Given the description of an element on the screen output the (x, y) to click on. 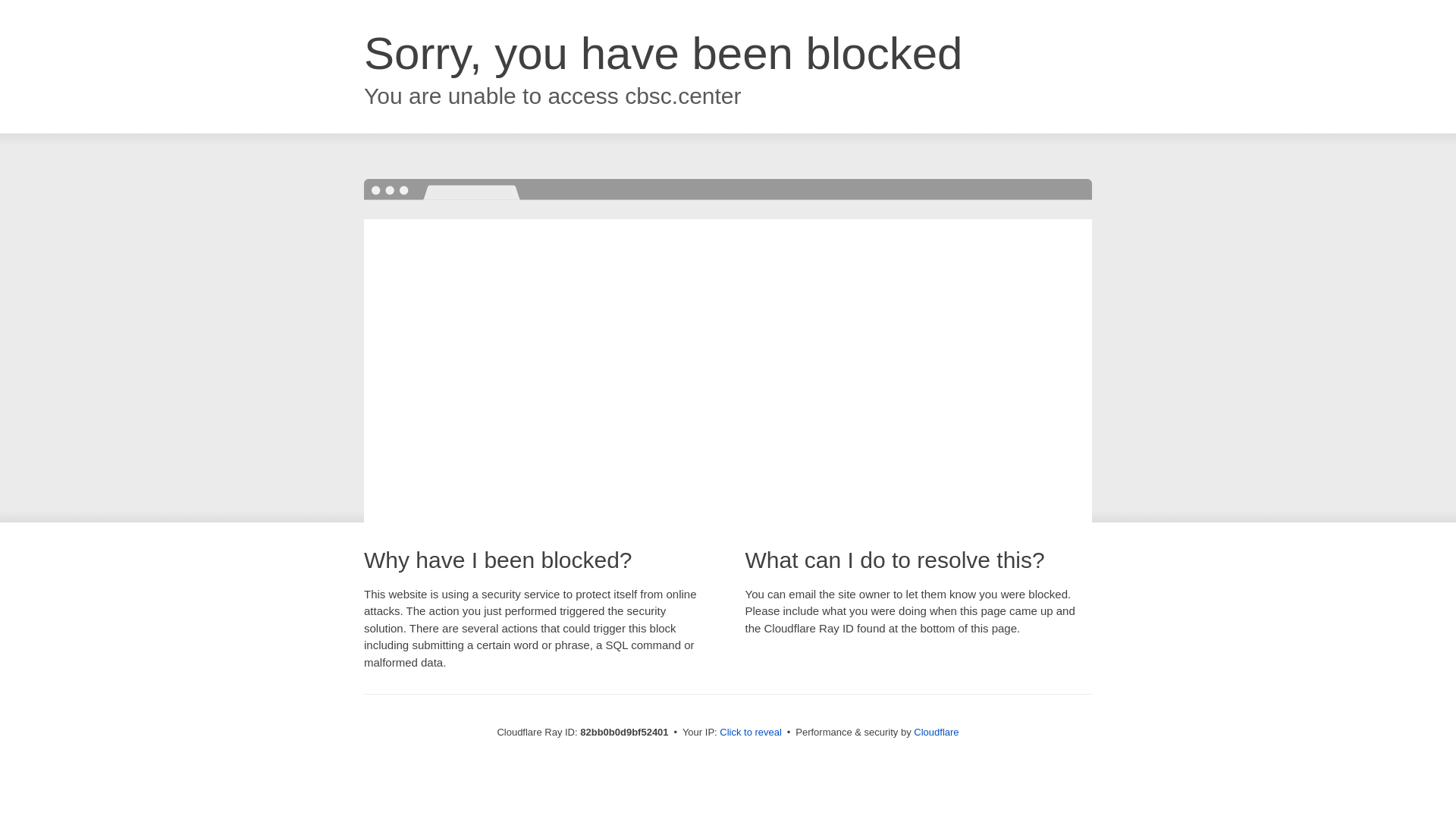
Cloudflare Element type: text (935, 731)
Click to reveal Element type: text (750, 732)
